Given the description of an element on the screen output the (x, y) to click on. 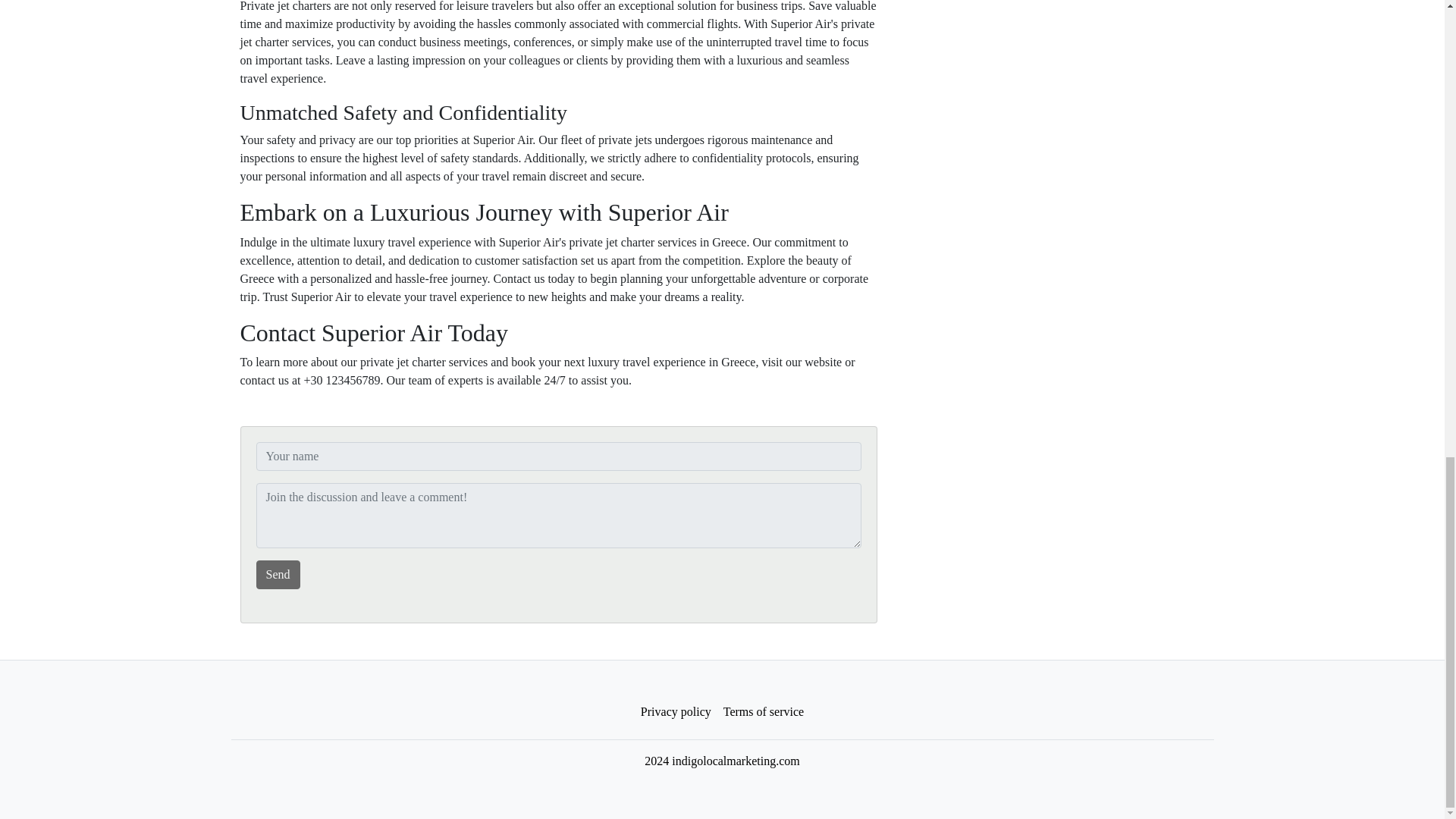
Send (277, 574)
Send (277, 574)
Terms of service (763, 711)
Privacy policy (675, 711)
